Given the description of an element on the screen output the (x, y) to click on. 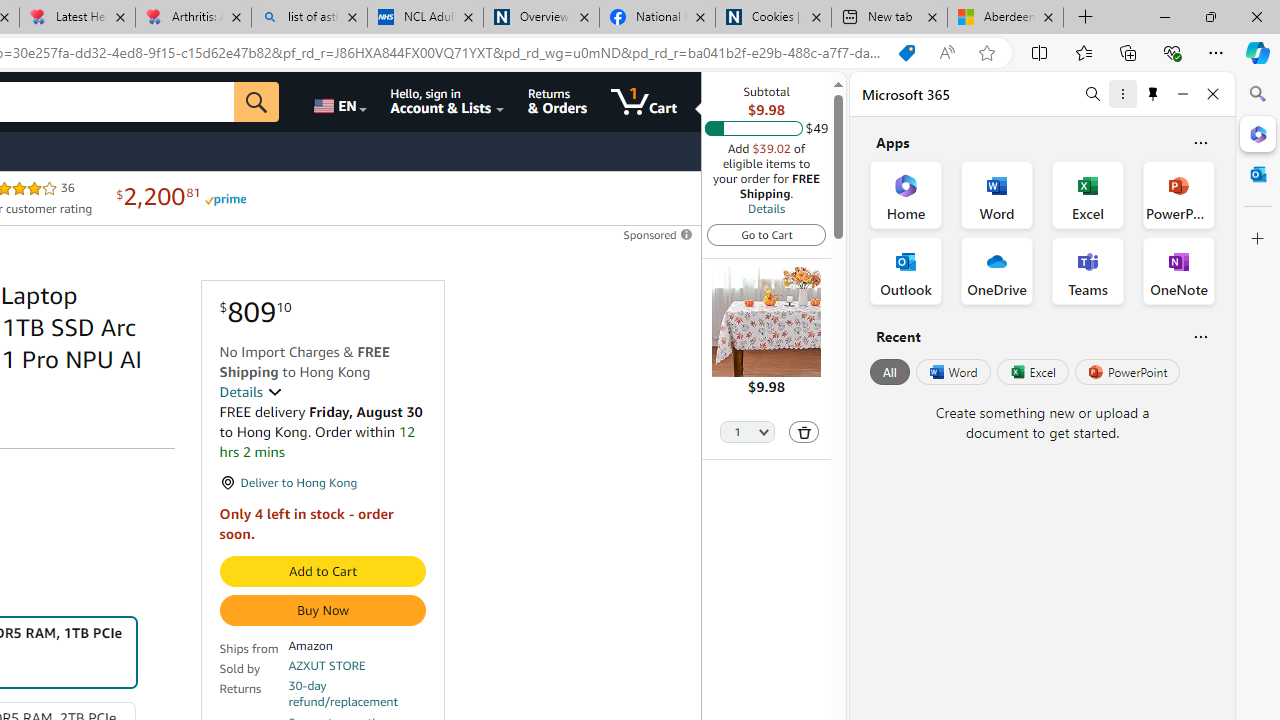
Quantity Selector (747, 433)
